Given the description of an element on the screen output the (x, y) to click on. 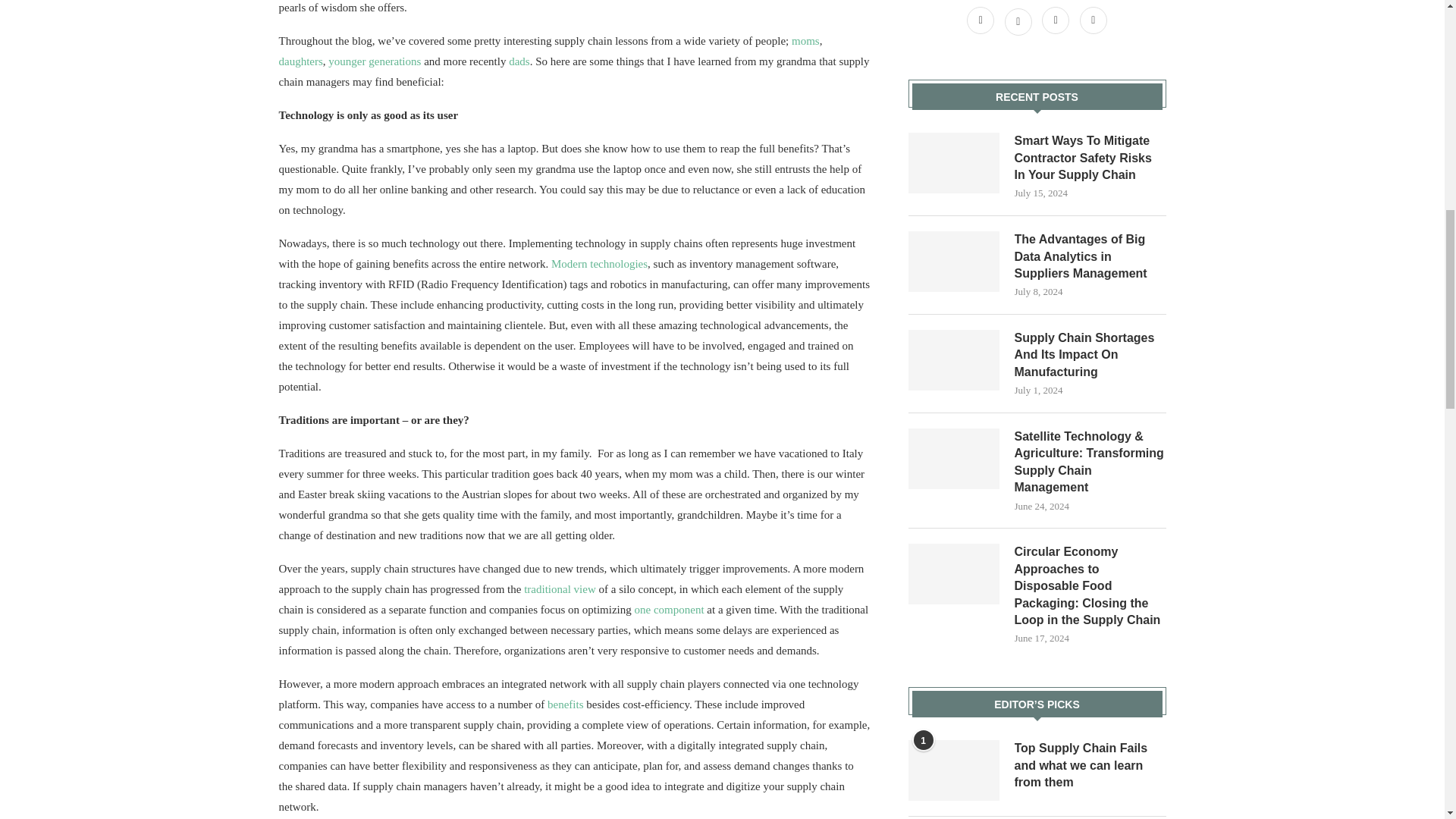
daughters (301, 61)
Modern technologies (599, 263)
dads (518, 61)
traditional view (559, 589)
moms (805, 40)
younger generations (374, 61)
benefits (565, 704)
one component (669, 609)
